Given the description of an element on the screen output the (x, y) to click on. 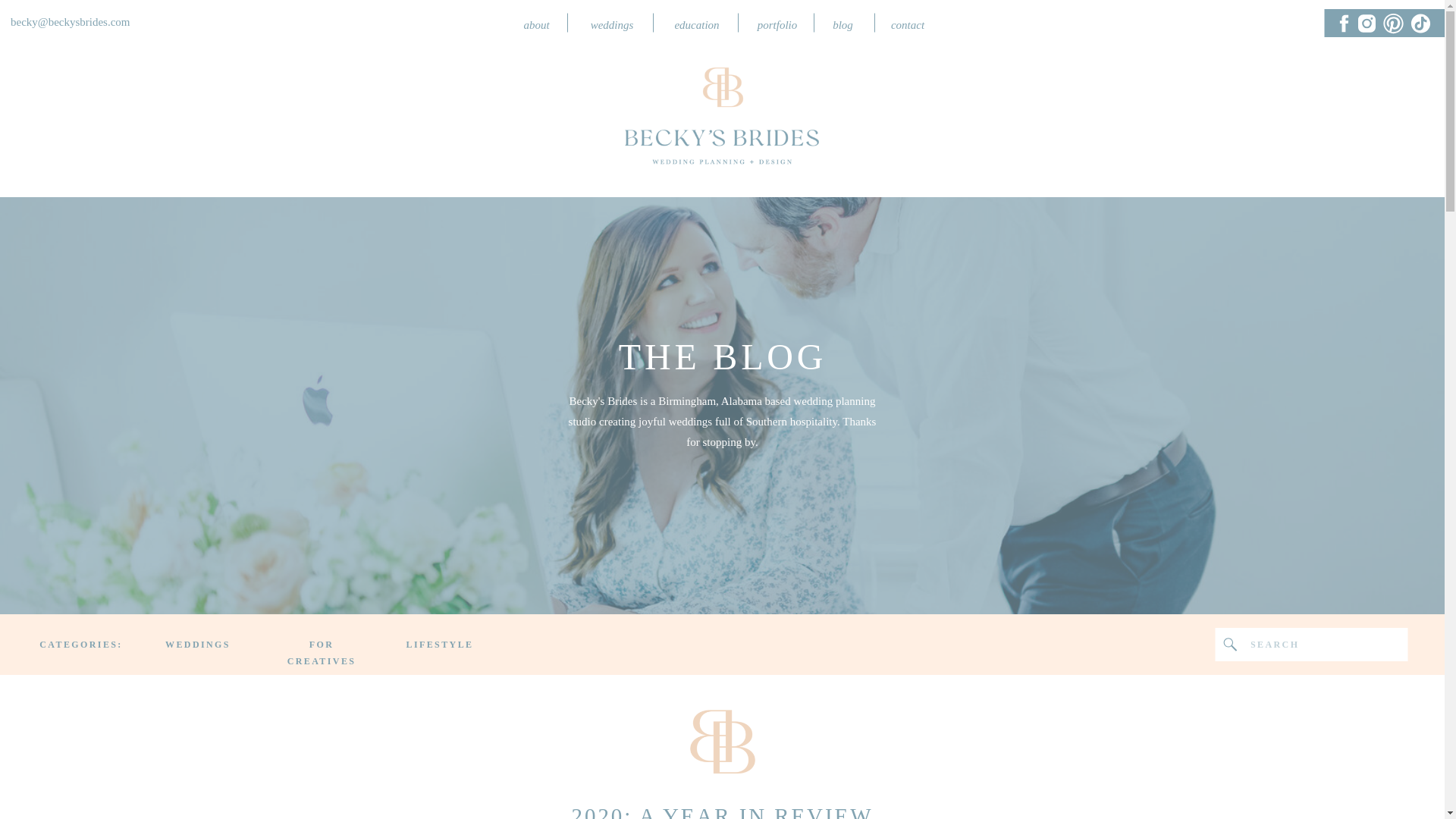
FOR CREATIVES (321, 644)
about (535, 22)
weddings (611, 22)
CATEGORIES: (80, 644)
portfolio (777, 22)
education (695, 22)
contact (907, 22)
blog (843, 22)
LIFESTYLE (439, 644)
WEDDINGS (197, 644)
